Given the description of an element on the screen output the (x, y) to click on. 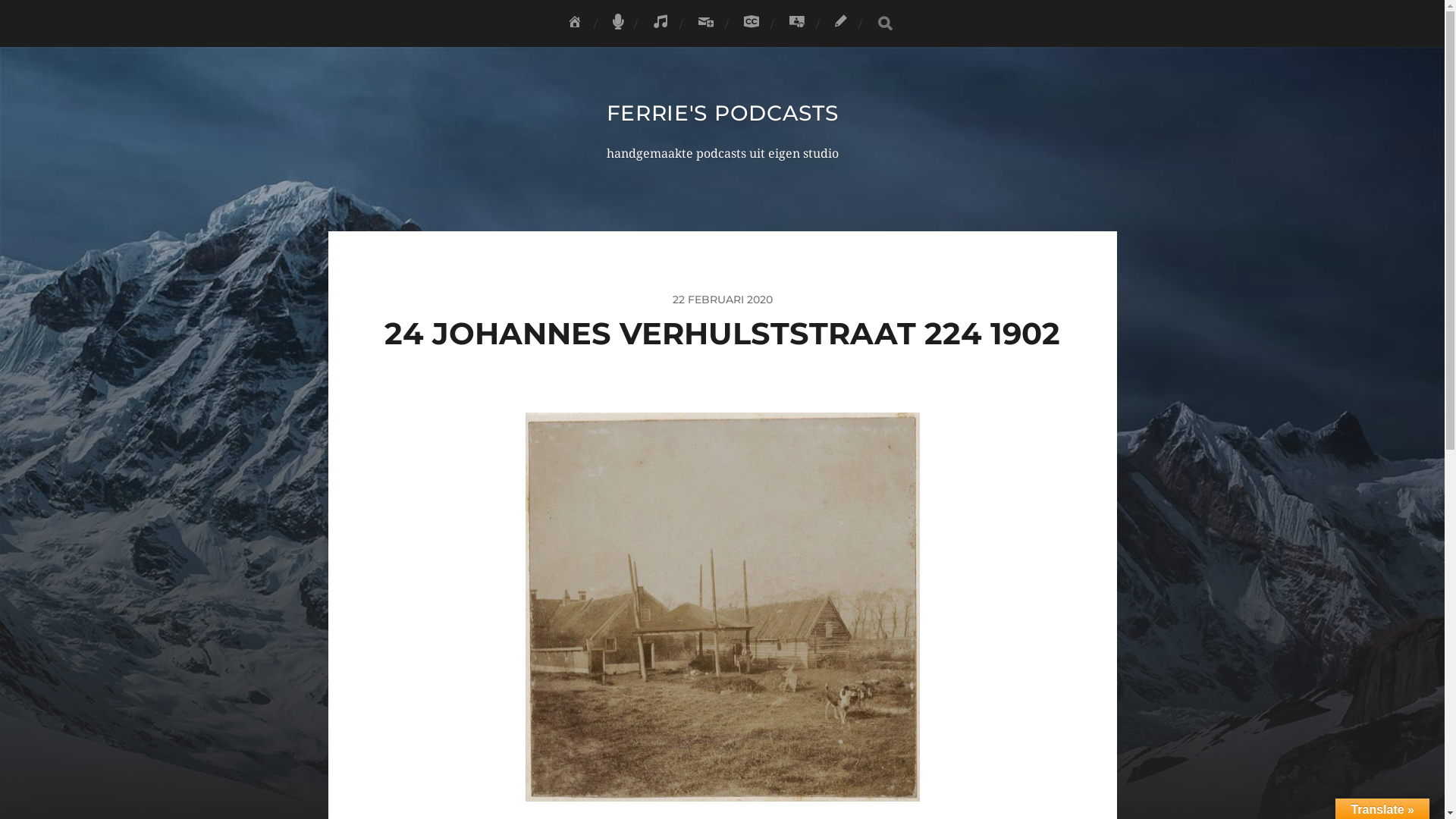
FAC Element type: text (660, 23)
FERRIE'S PODCASTS Element type: text (722, 112)
ABONNEREN Element type: text (705, 23)
FERRIE Element type: text (617, 23)
LICENTIE Element type: text (751, 23)
HOME Element type: text (574, 23)
CONTACT Element type: text (840, 23)
DONEREN Element type: text (796, 23)
